Given the description of an element on the screen output the (x, y) to click on. 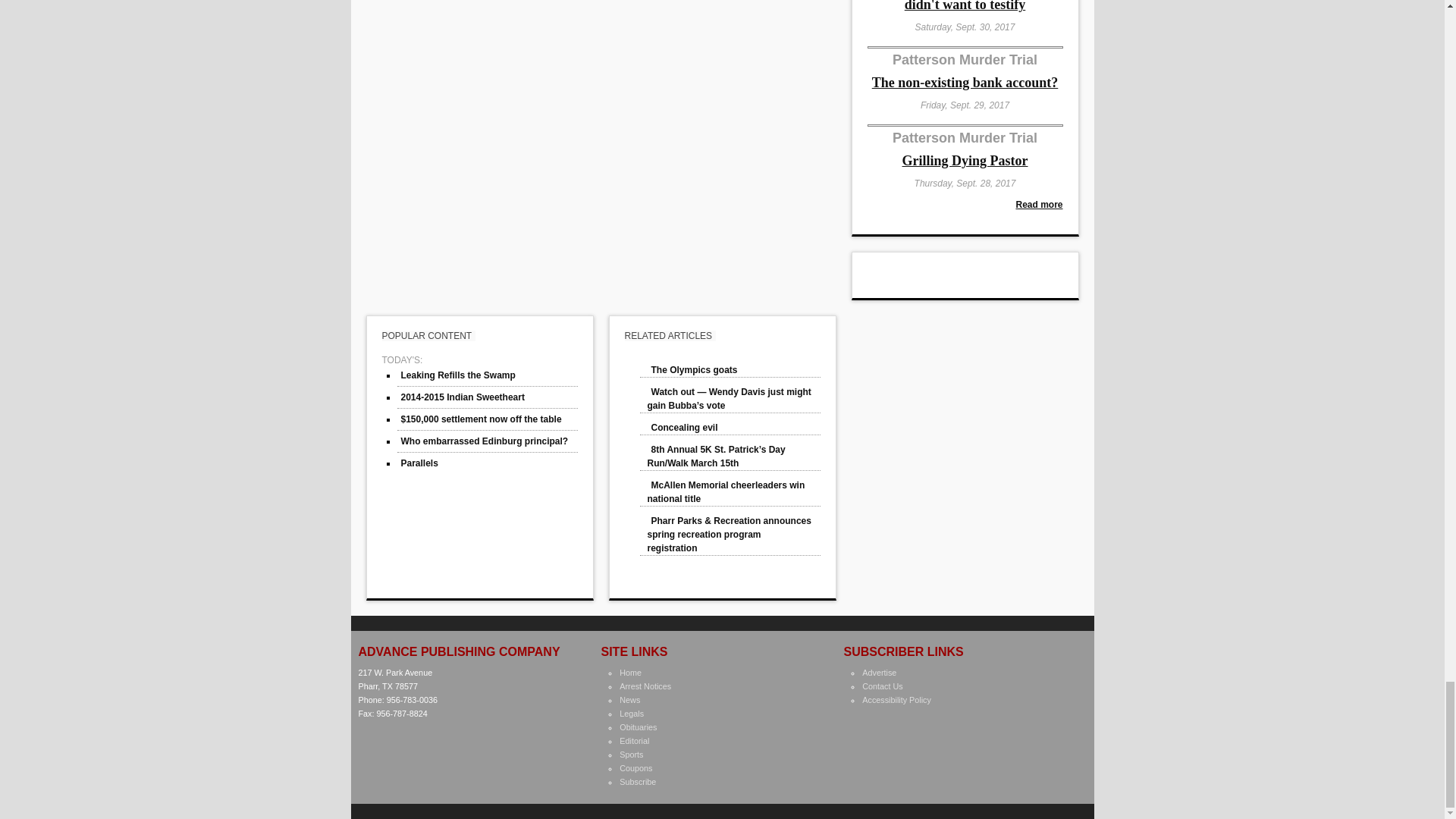
Obituaries (638, 727)
News (630, 699)
Sports (631, 754)
